Given the description of an element on the screen output the (x, y) to click on. 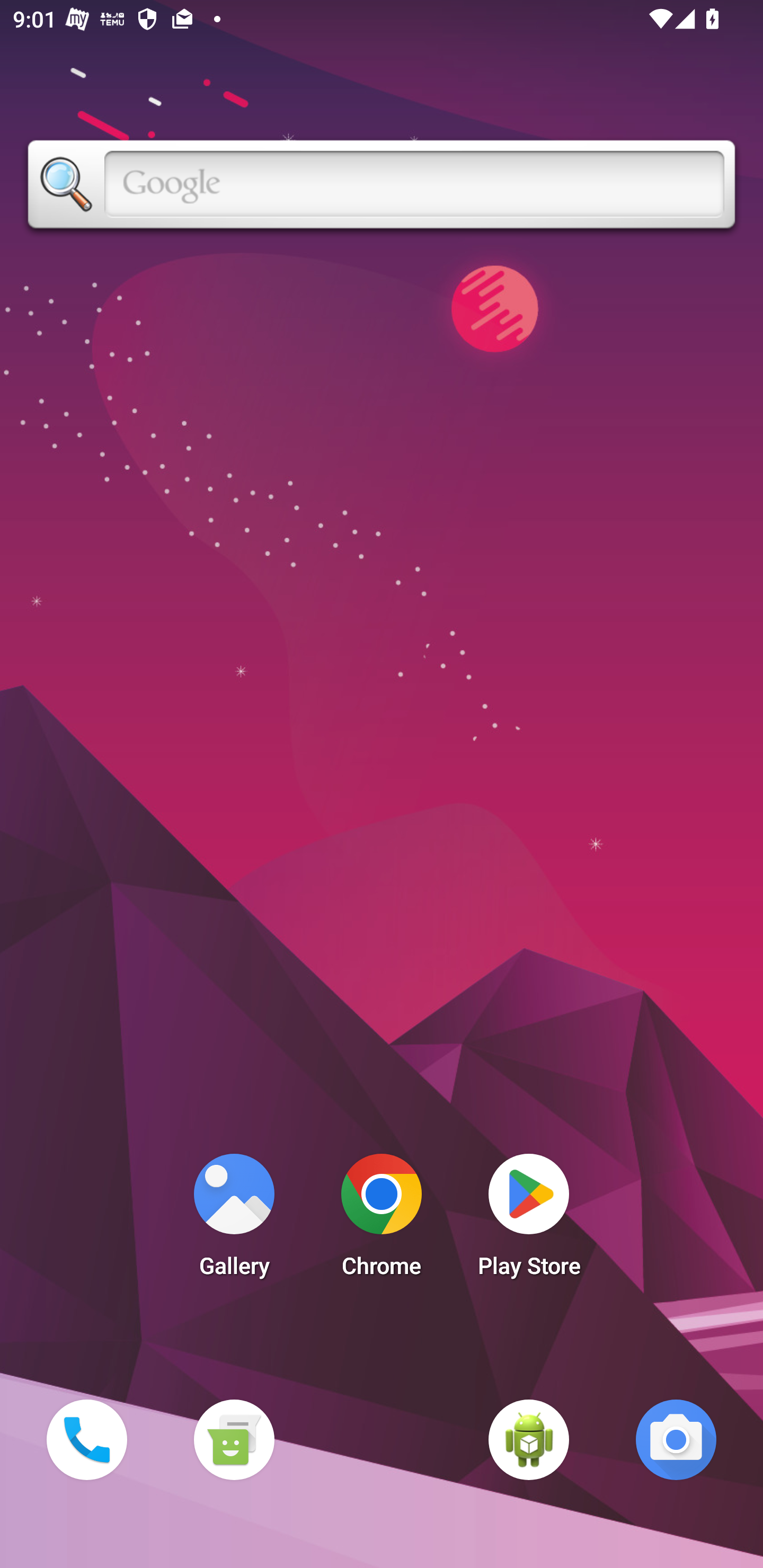
Gallery (233, 1220)
Chrome (381, 1220)
Play Store (528, 1220)
Phone (86, 1439)
Messaging (233, 1439)
WebView Browser Tester (528, 1439)
Camera (676, 1439)
